Given the description of an element on the screen output the (x, y) to click on. 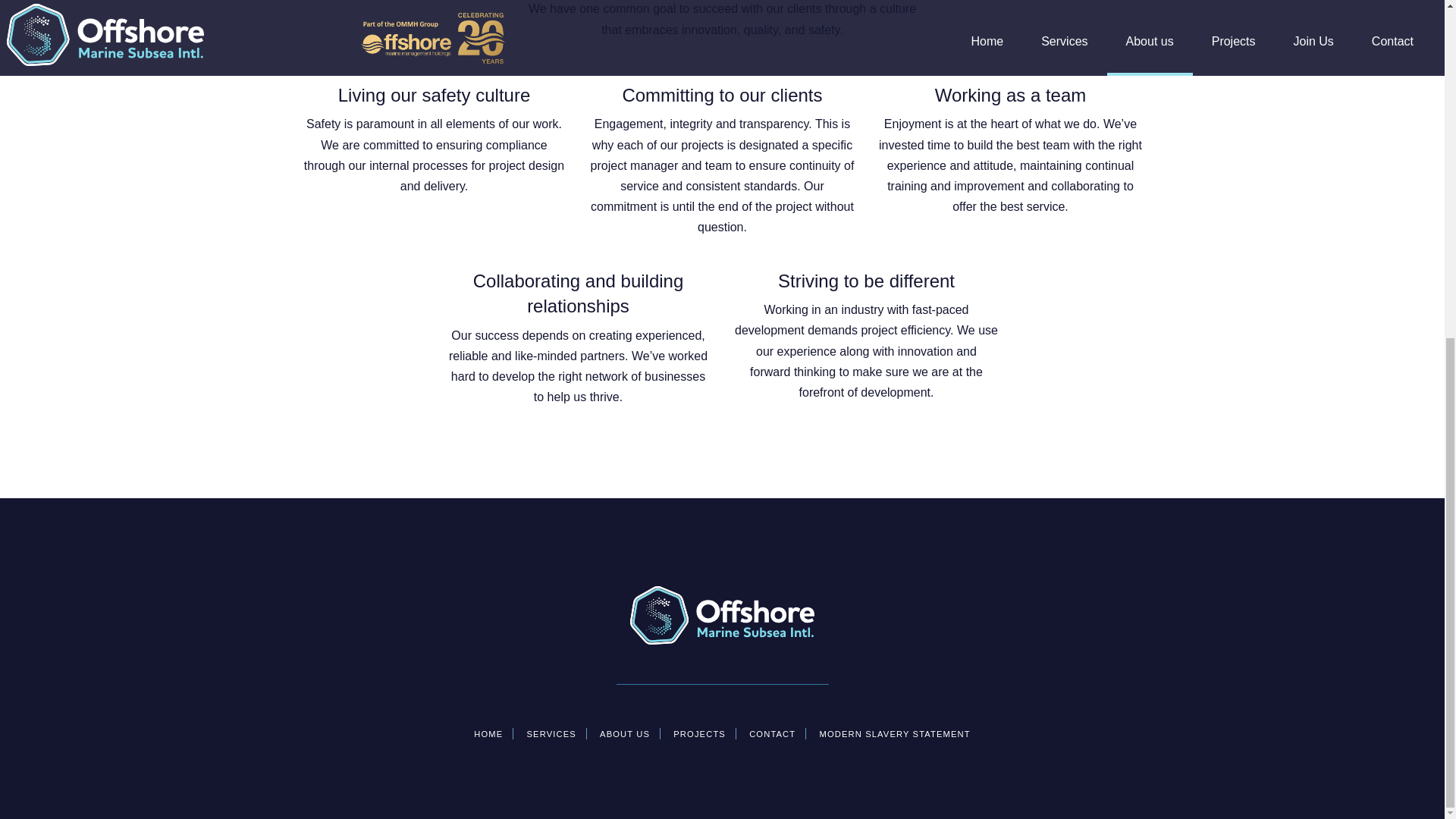
CONTACT (772, 733)
ABOUT US (625, 733)
PROJECTS (699, 733)
HOME (488, 733)
MODERN SLAVERY STATEMENT (894, 733)
SERVICES (551, 733)
